Given the description of an element on the screen output the (x, y) to click on. 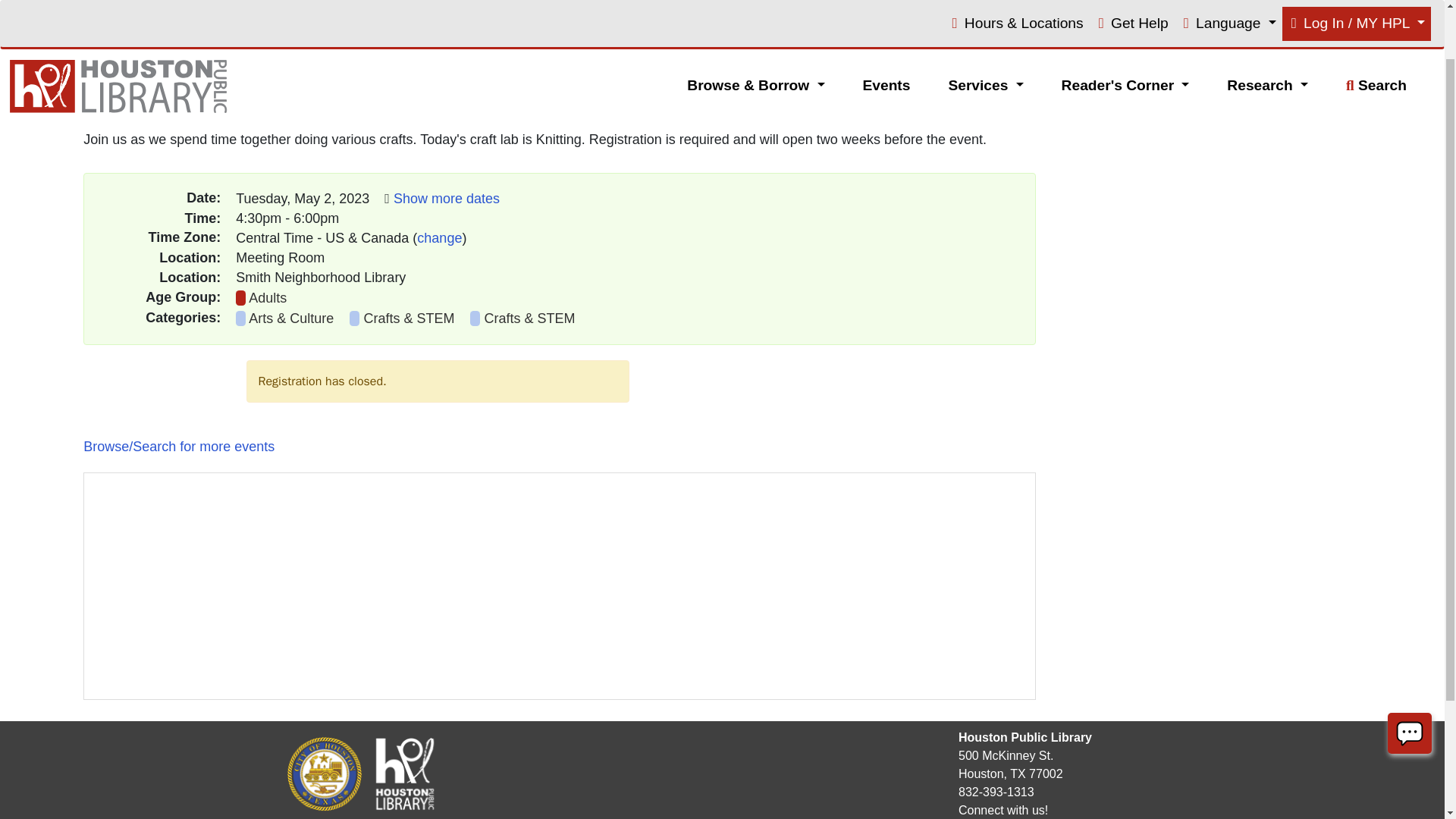
Houston Public Library logo (122, 25)
City of Houston Logo (324, 771)
Research (1267, 24)
Services (985, 24)
Houston Public Library Logo (404, 773)
Events (887, 24)
Reader's Corner (1125, 24)
Ask Us (1409, 672)
